Given the description of an element on the screen output the (x, y) to click on. 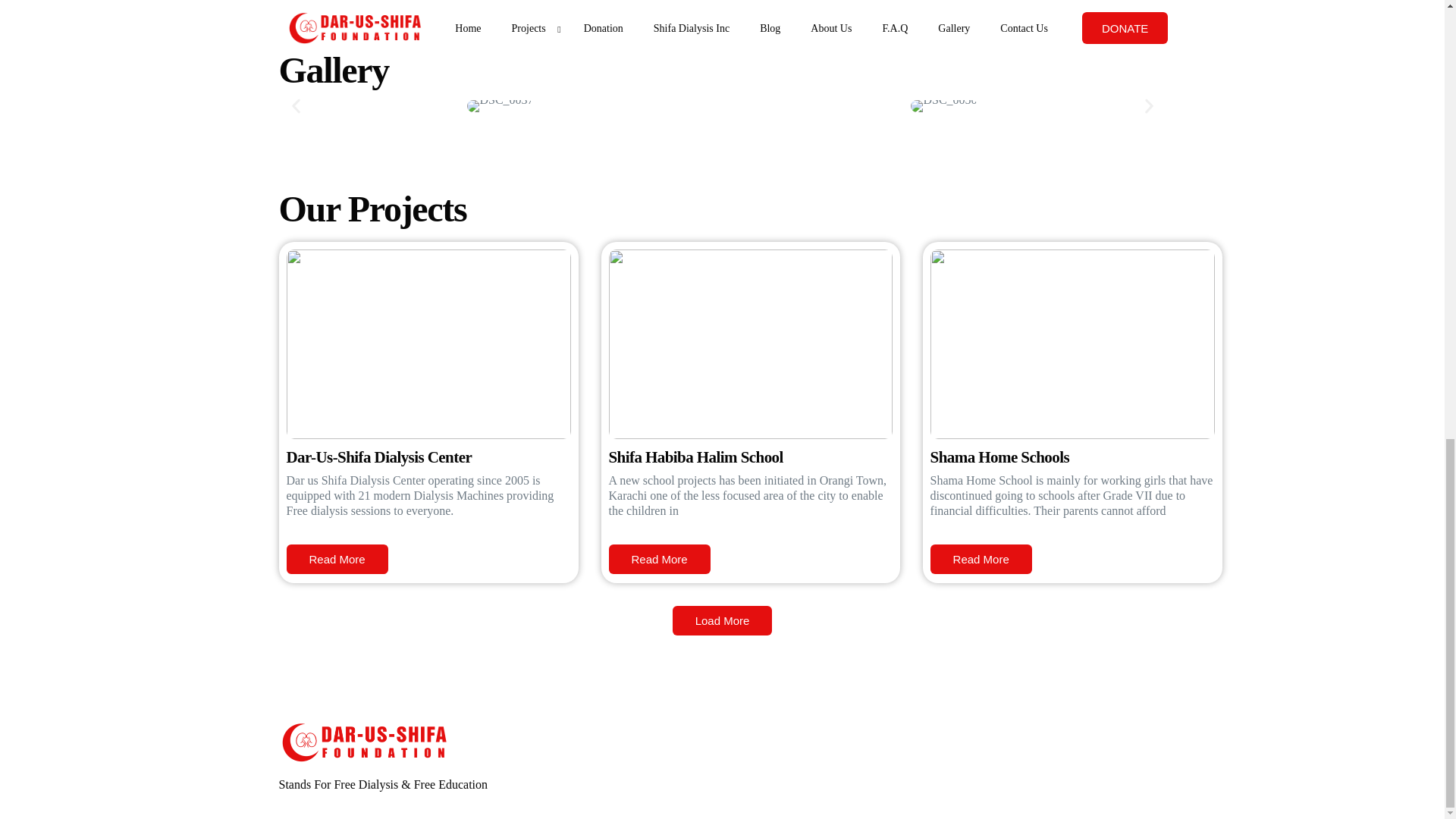
Read More (659, 559)
Dar-Us-Shifa Dialysis Center (378, 456)
Shifa Habiba Halim School (695, 456)
Read More (337, 559)
Read More (981, 559)
Load More (722, 620)
Shama Home Schools (999, 456)
